Given the description of an element on the screen output the (x, y) to click on. 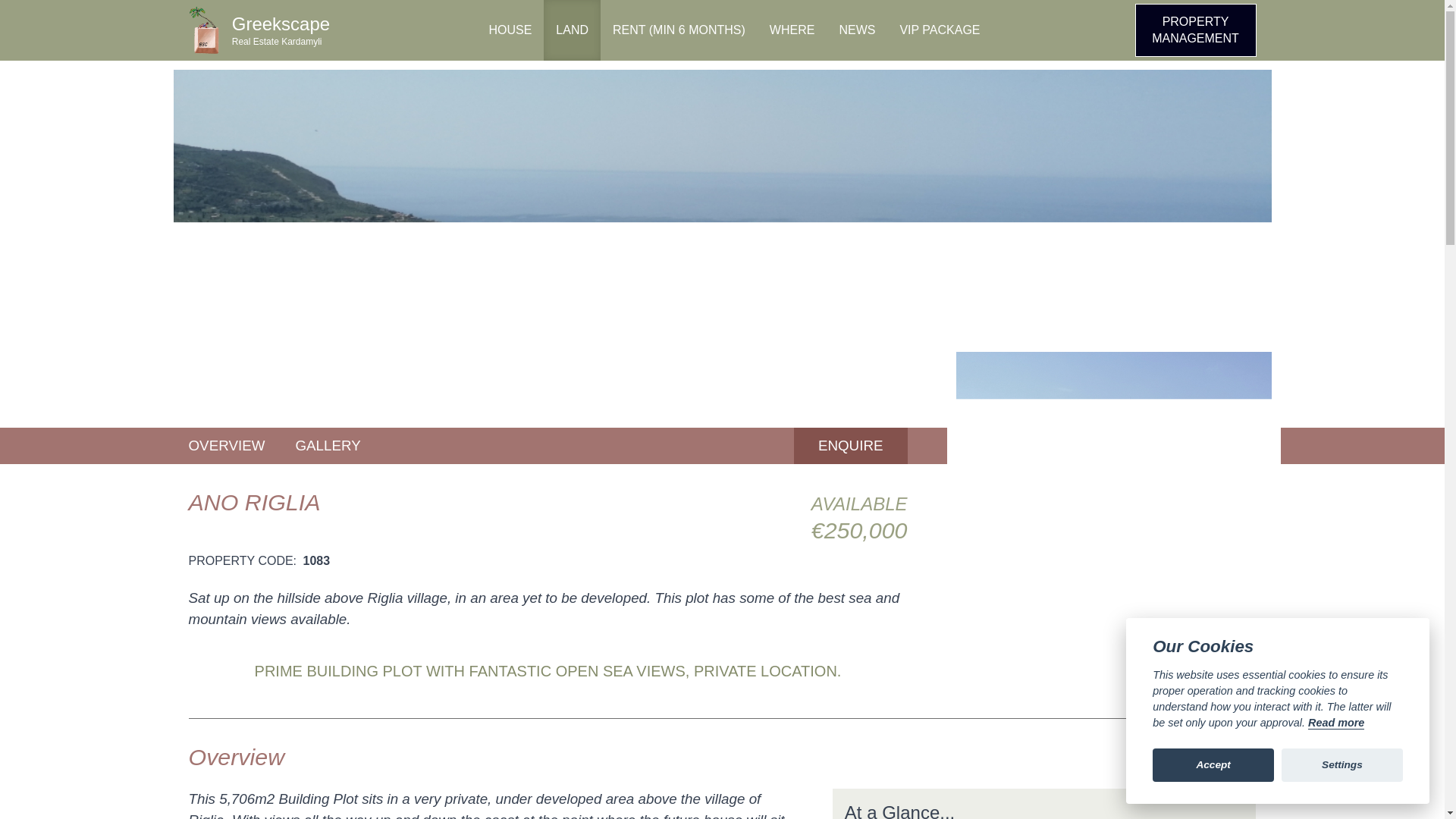
PROPERTY MANAGEMENT (1194, 30)
HOUSE (509, 30)
GALLERY (260, 29)
VIP PACKAGE (327, 445)
NEWS (938, 30)
WHERE (856, 30)
OVERVIEW (792, 30)
ENQUIRE (225, 445)
Read more (850, 445)
LAND (1335, 722)
Accept (571, 30)
